Given the description of an element on the screen output the (x, y) to click on. 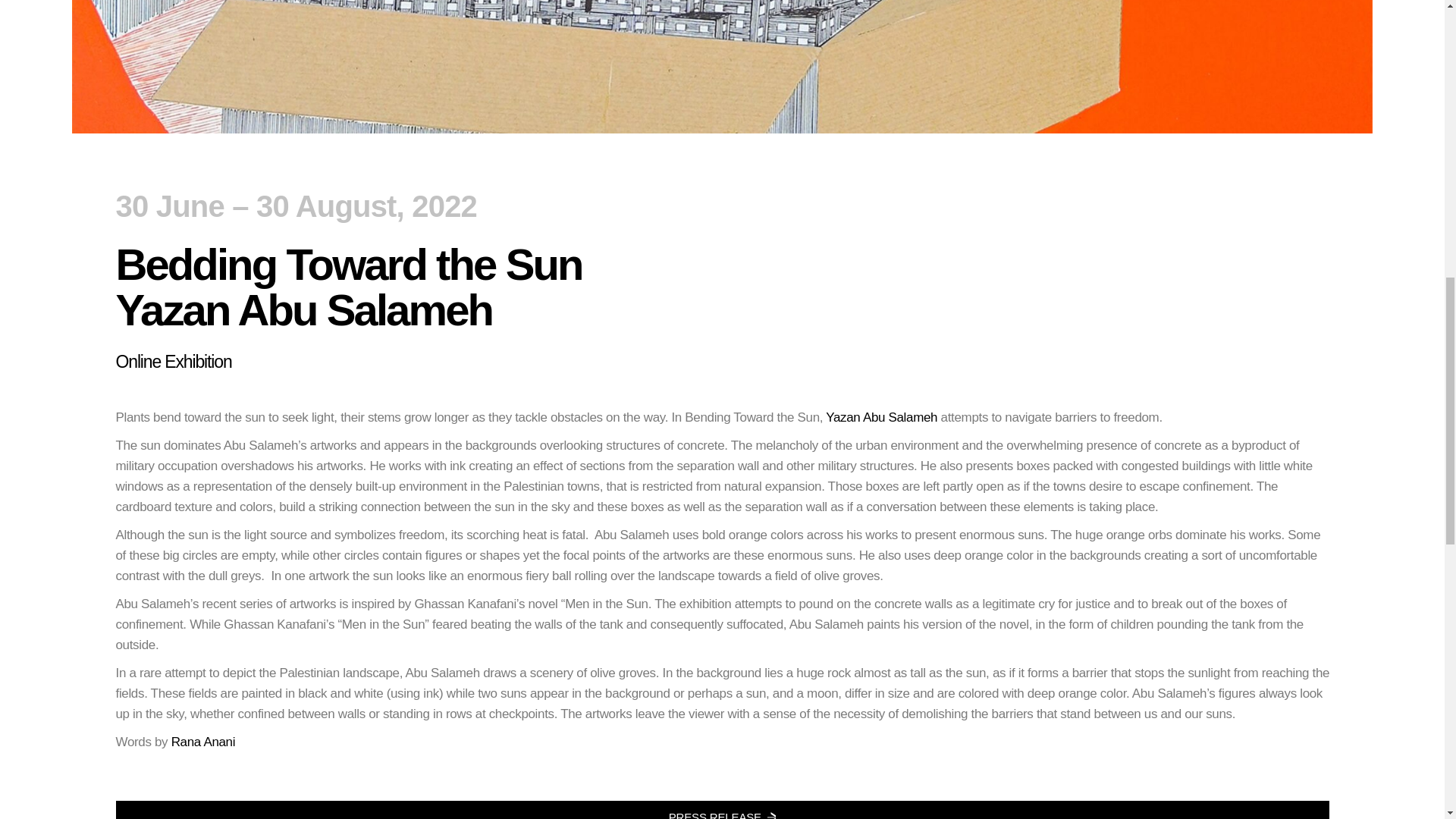
Rana Anani (203, 741)
Yazan Abu Salameh (881, 417)
PRESS RELEASE (721, 809)
